Given the description of an element on the screen output the (x, y) to click on. 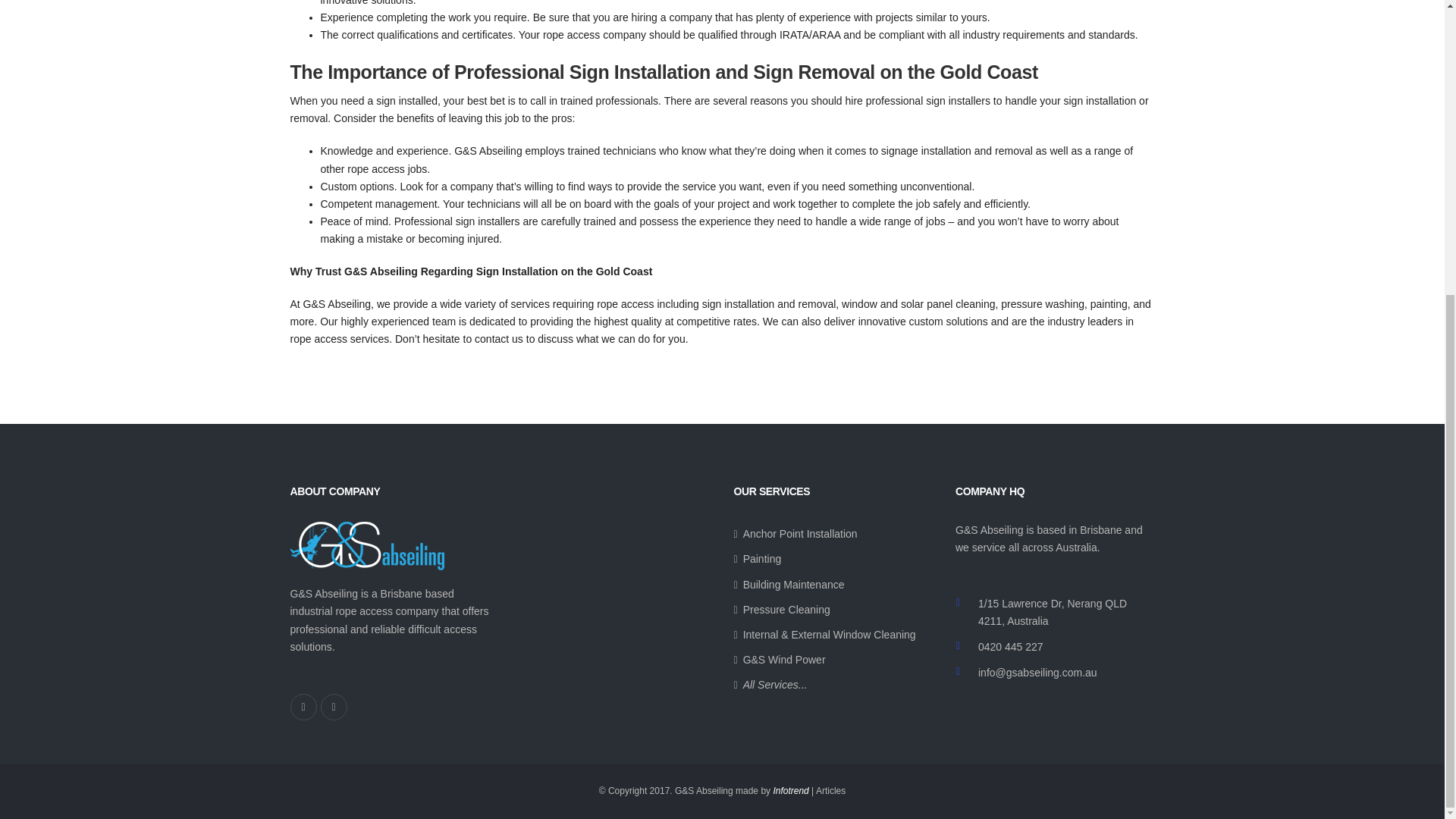
All Services... (770, 684)
Instagram (333, 706)
Pressure Cleaning (781, 609)
Articles (830, 790)
Building Maintenance (788, 584)
Building Maintenance (788, 584)
Anchor Point Installation (795, 534)
All Services... (770, 684)
Painting (757, 559)
Facebook (302, 706)
Anchor Point Installation (795, 534)
Pressure Cleaning (781, 609)
Infotrend (790, 790)
Painting (757, 559)
